Given the description of an element on the screen output the (x, y) to click on. 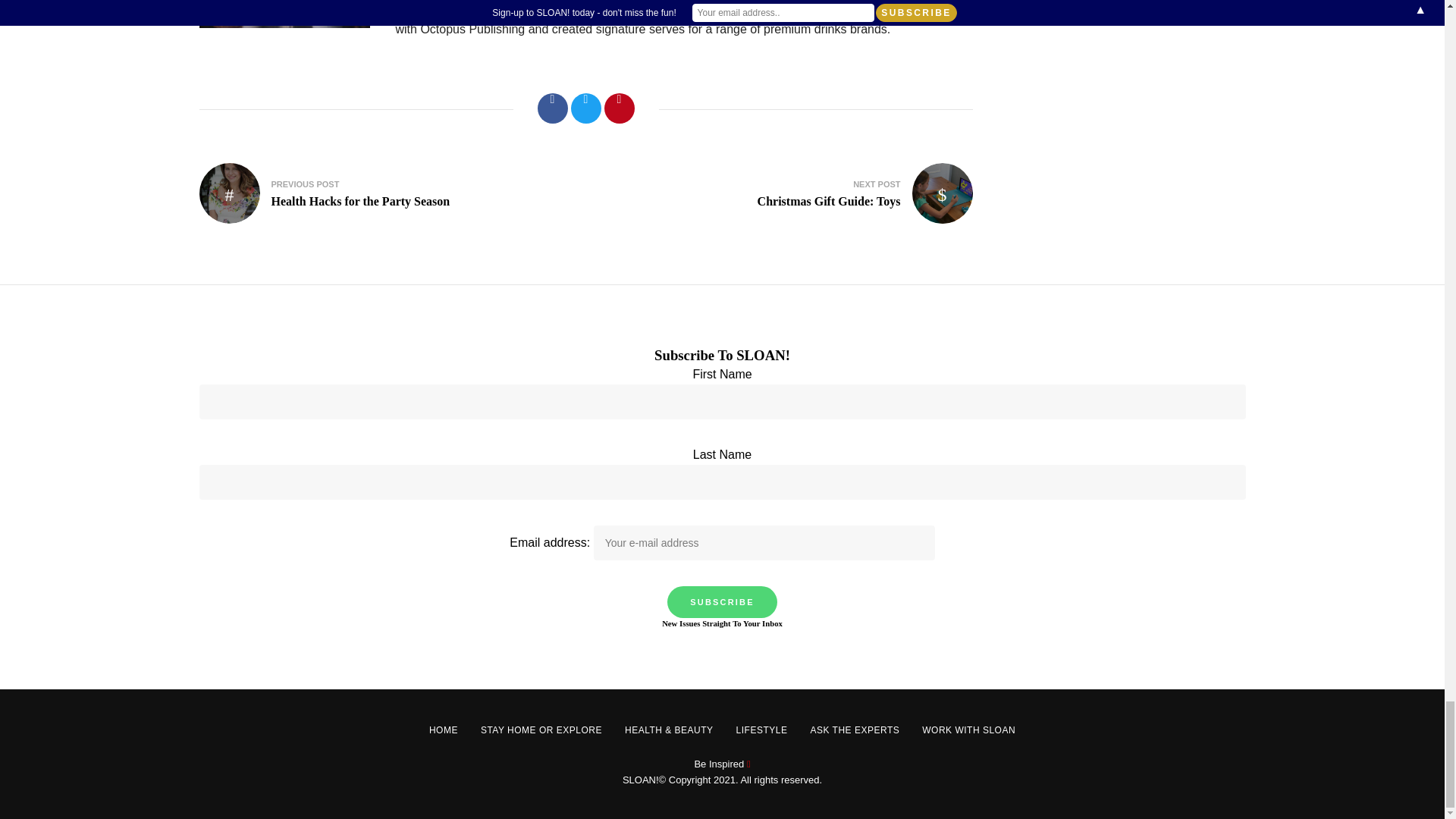
Pinterest (618, 108)
Subscribe (721, 602)
Facebook (552, 108)
Twitter (584, 108)
